Given the description of an element on the screen output the (x, y) to click on. 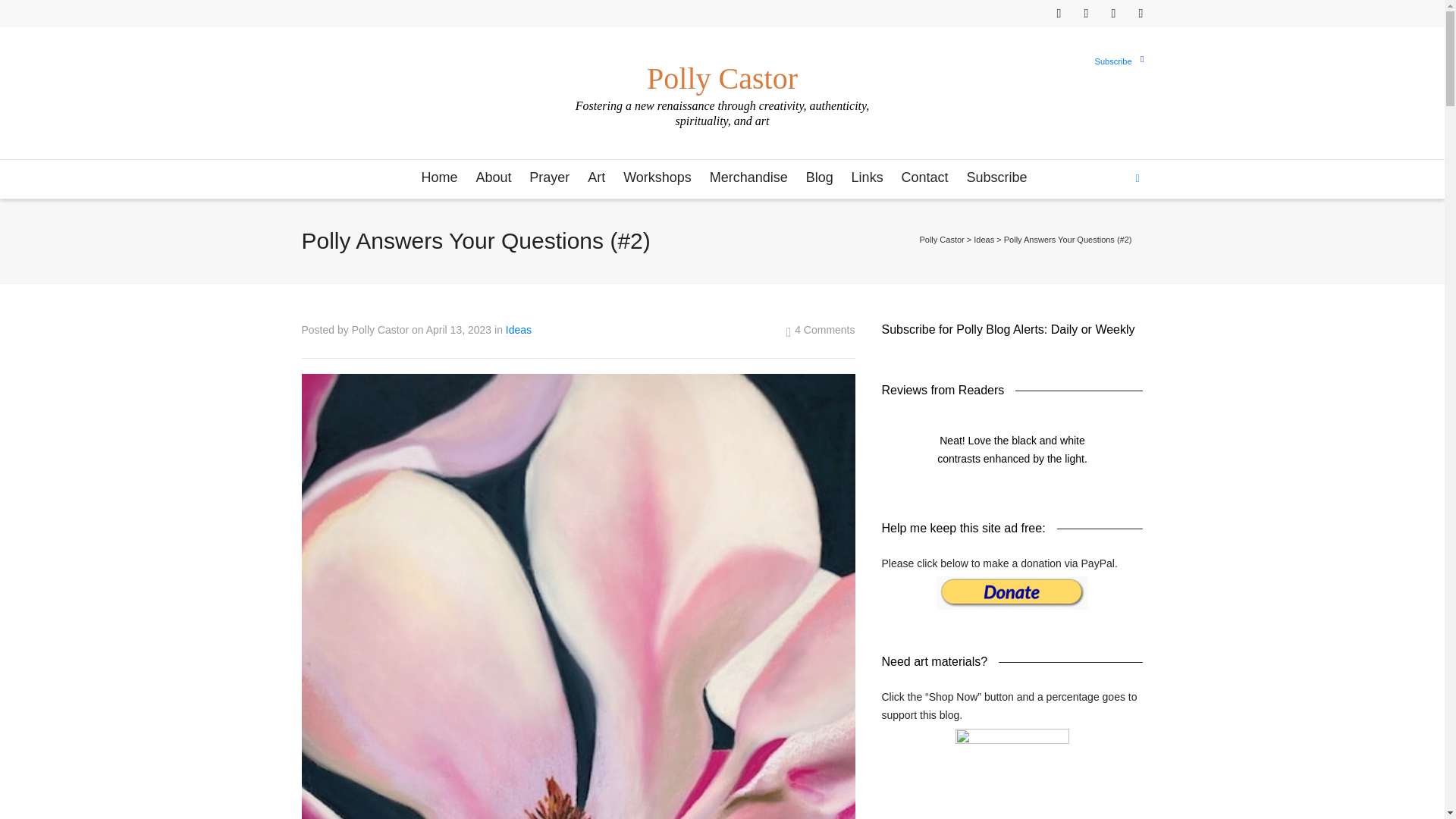
About (493, 178)
Polly Castor (721, 71)
Home (438, 178)
Subscribe (1113, 61)
Prayer (549, 178)
Go to Polly Castor. (940, 239)
Workshops (657, 178)
Merchandise (748, 178)
Go to the Ideas Category archives. (984, 239)
